Given the description of an element on the screen output the (x, y) to click on. 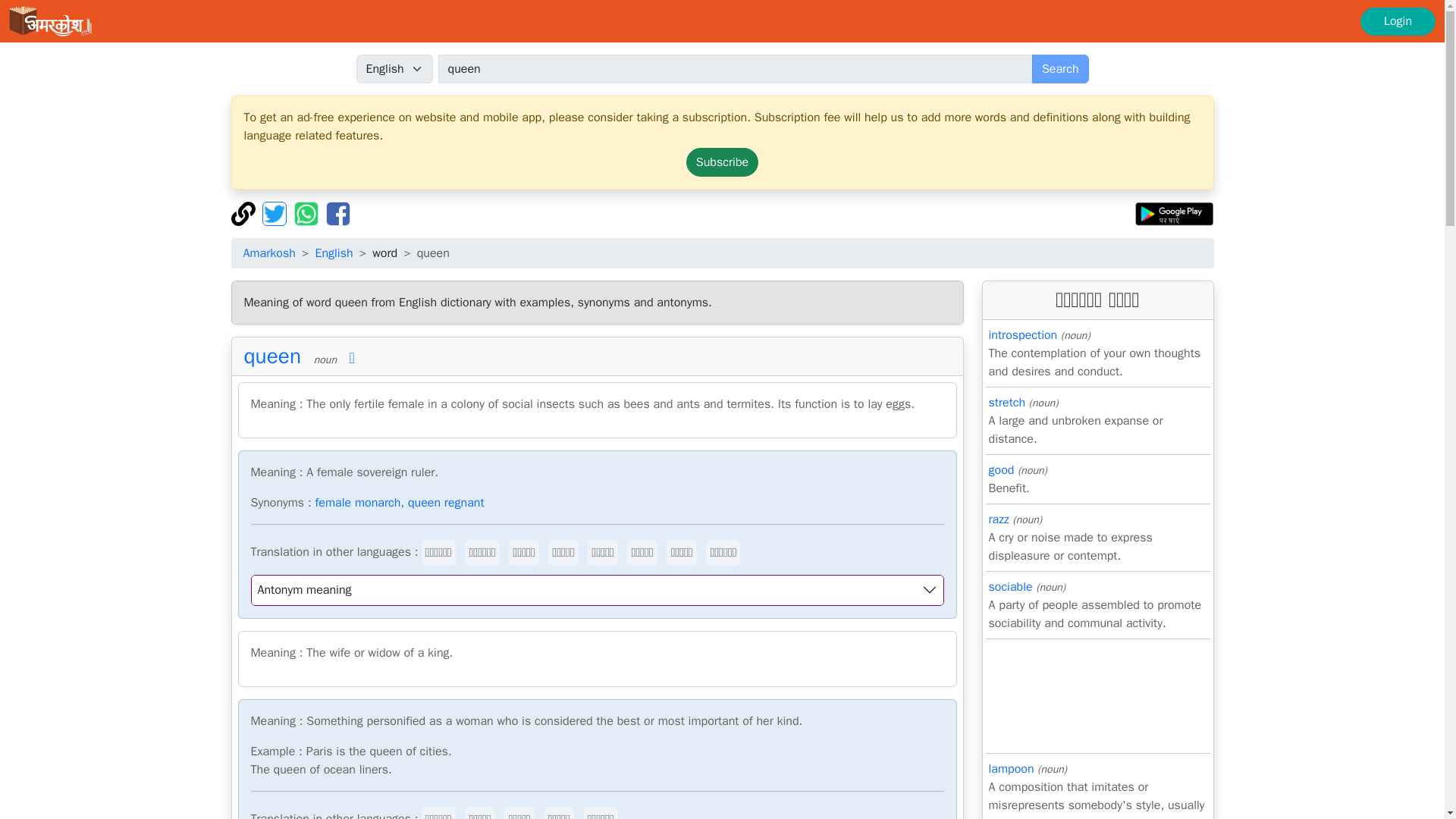
Copy page URL (244, 212)
Amarkosh (269, 253)
queen regnant (445, 502)
Get it on Google Play (1174, 212)
English (333, 253)
female monarch (358, 502)
queen (735, 68)
Subscribe (721, 162)
Search (1060, 68)
Share on Facebook (338, 212)
Share on Twitter (275, 212)
queen (272, 356)
Login (1397, 21)
queen (735, 68)
Share on WhatsApp (307, 212)
